Given the description of an element on the screen output the (x, y) to click on. 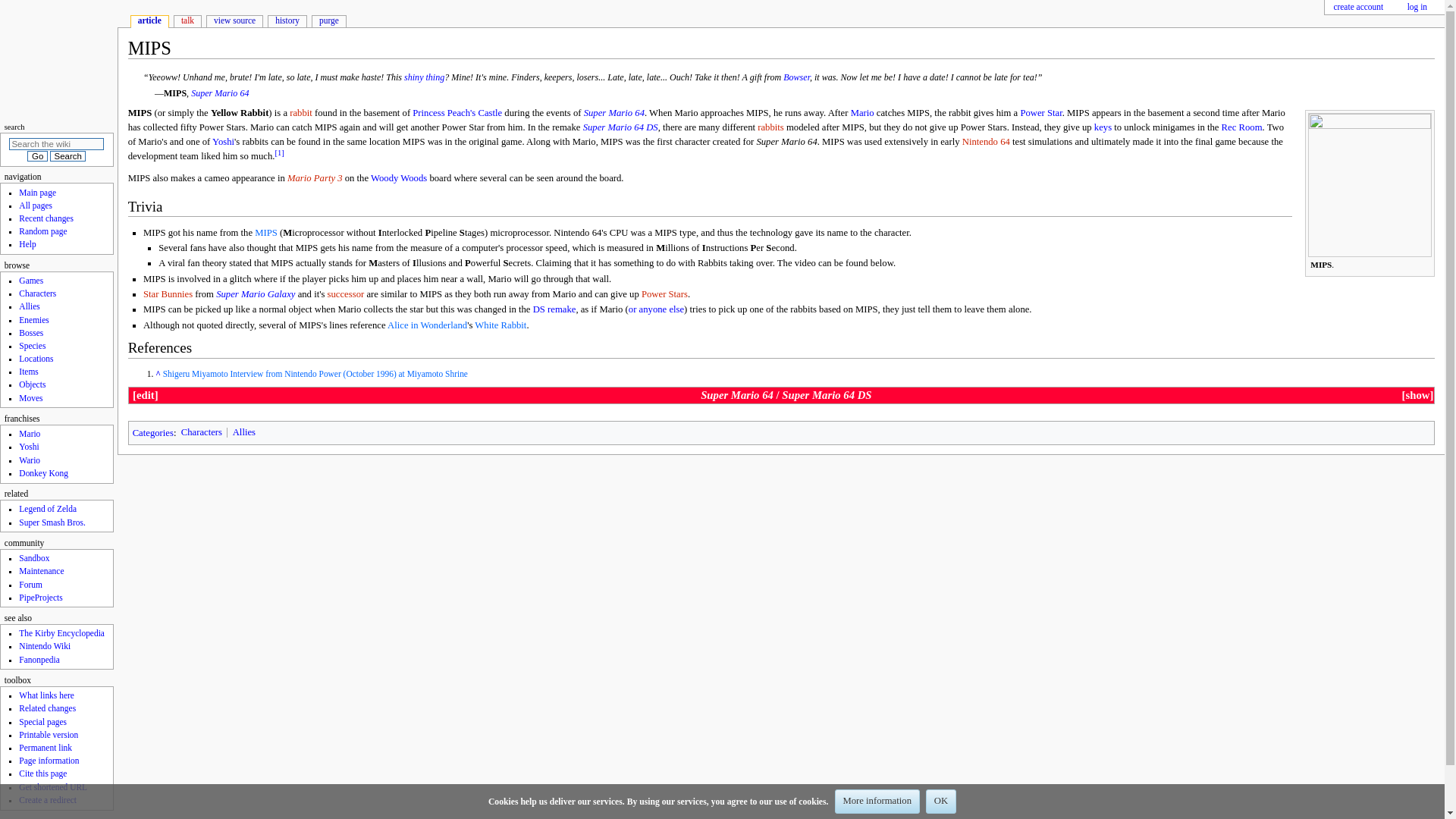
Woody Woods (398, 177)
Woody Woods (398, 177)
White Rabbit (499, 325)
Rec Room (1241, 127)
Mario Party 3 (314, 177)
Alice in Wonderland (427, 325)
Bowser (796, 77)
Search (67, 155)
Super Mario 64 (219, 92)
Key (1103, 127)
